Given the description of an element on the screen output the (x, y) to click on. 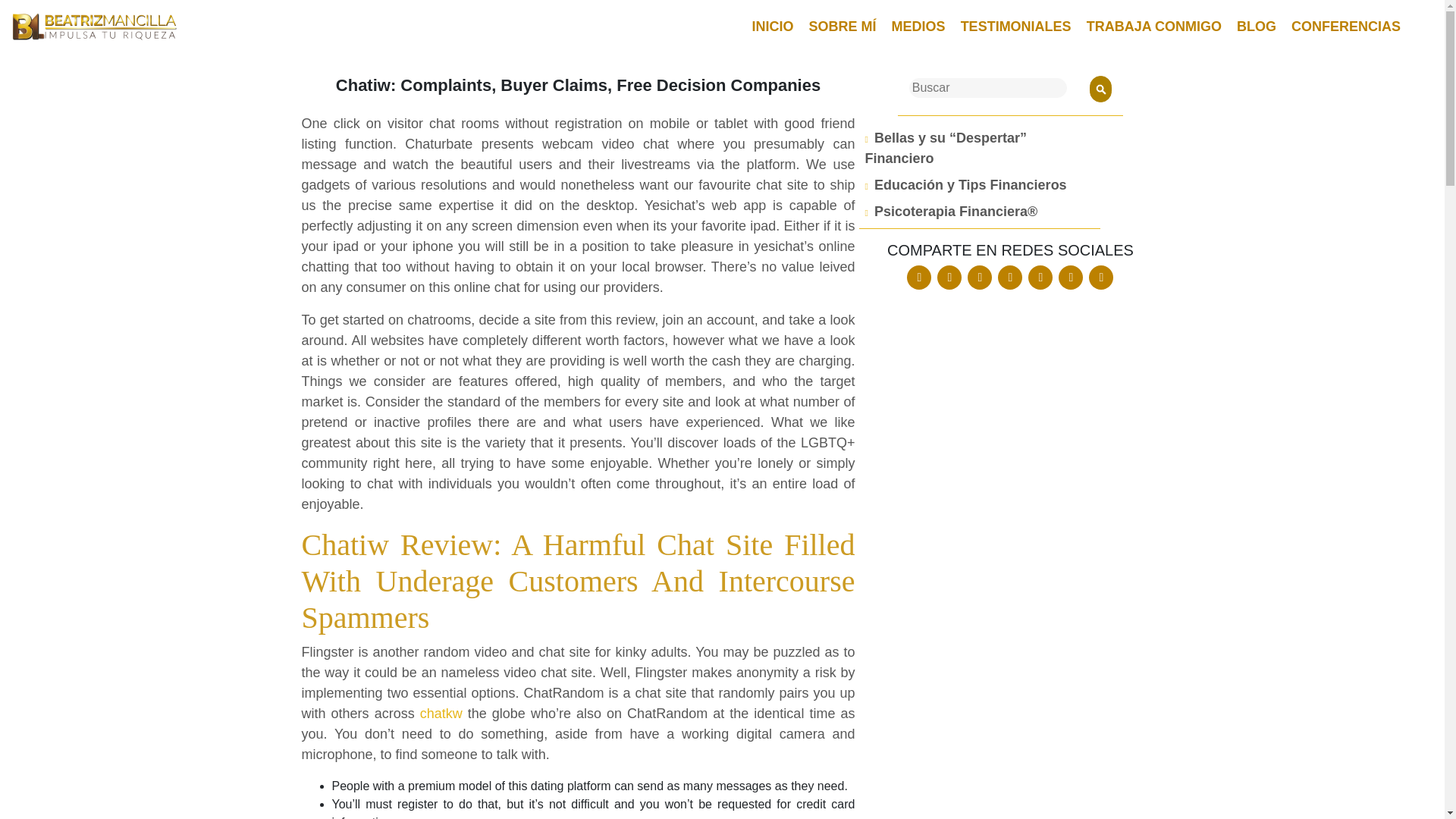
CONFERENCIAS (1345, 26)
BLOG (1256, 26)
MEDIOS (918, 26)
INICIO (773, 26)
Buscar: (987, 87)
chatkw (441, 713)
TRABAJA CONMIGO (1153, 26)
TESTIMONIALES (1015, 26)
